Given the description of an element on the screen output the (x, y) to click on. 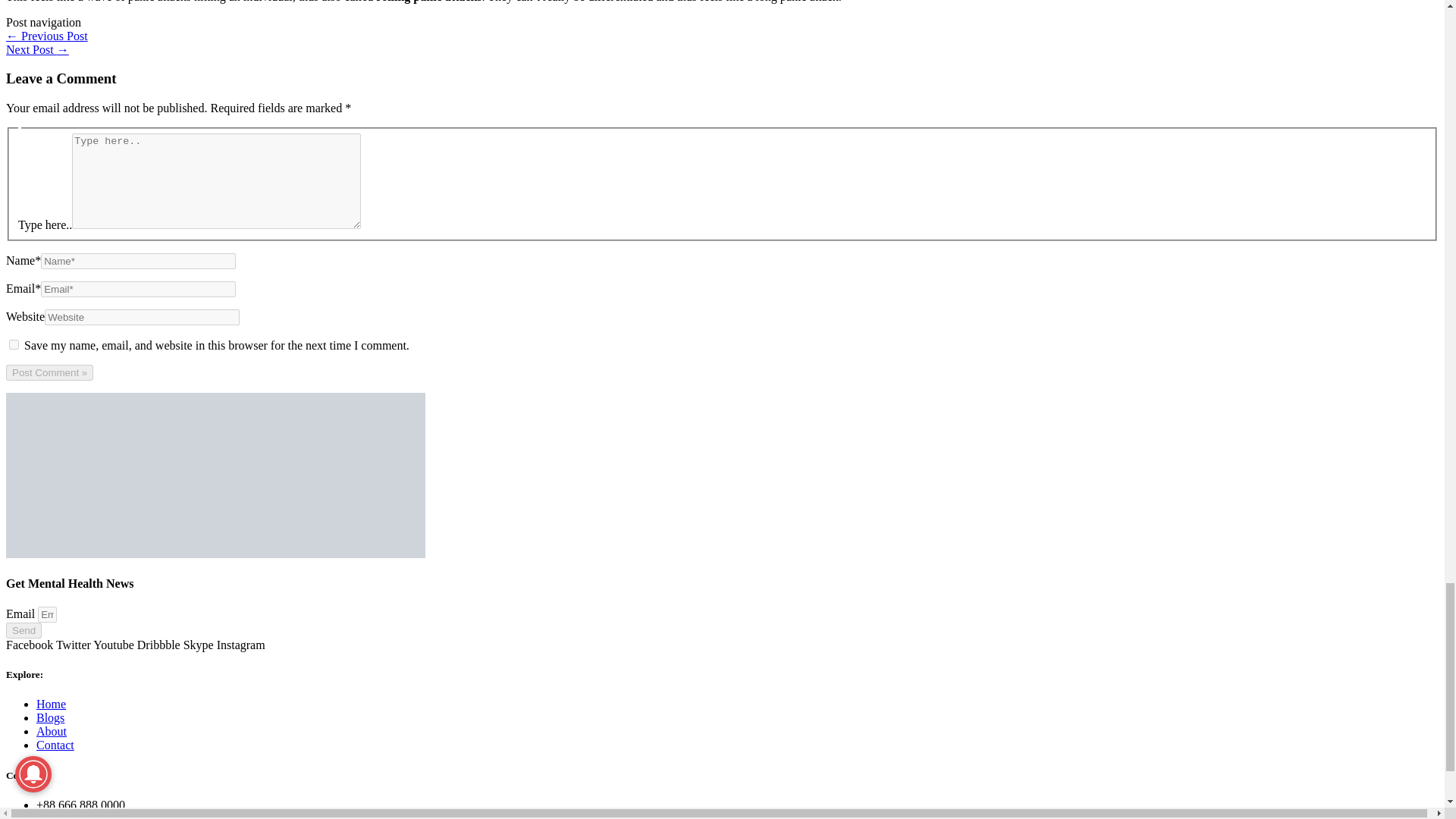
Skype (199, 644)
Youtube (114, 644)
yes (13, 344)
Send (23, 630)
Dribbble (159, 644)
Instagram (240, 644)
Facebook (30, 644)
Twitter (74, 644)
